Given the description of an element on the screen output the (x, y) to click on. 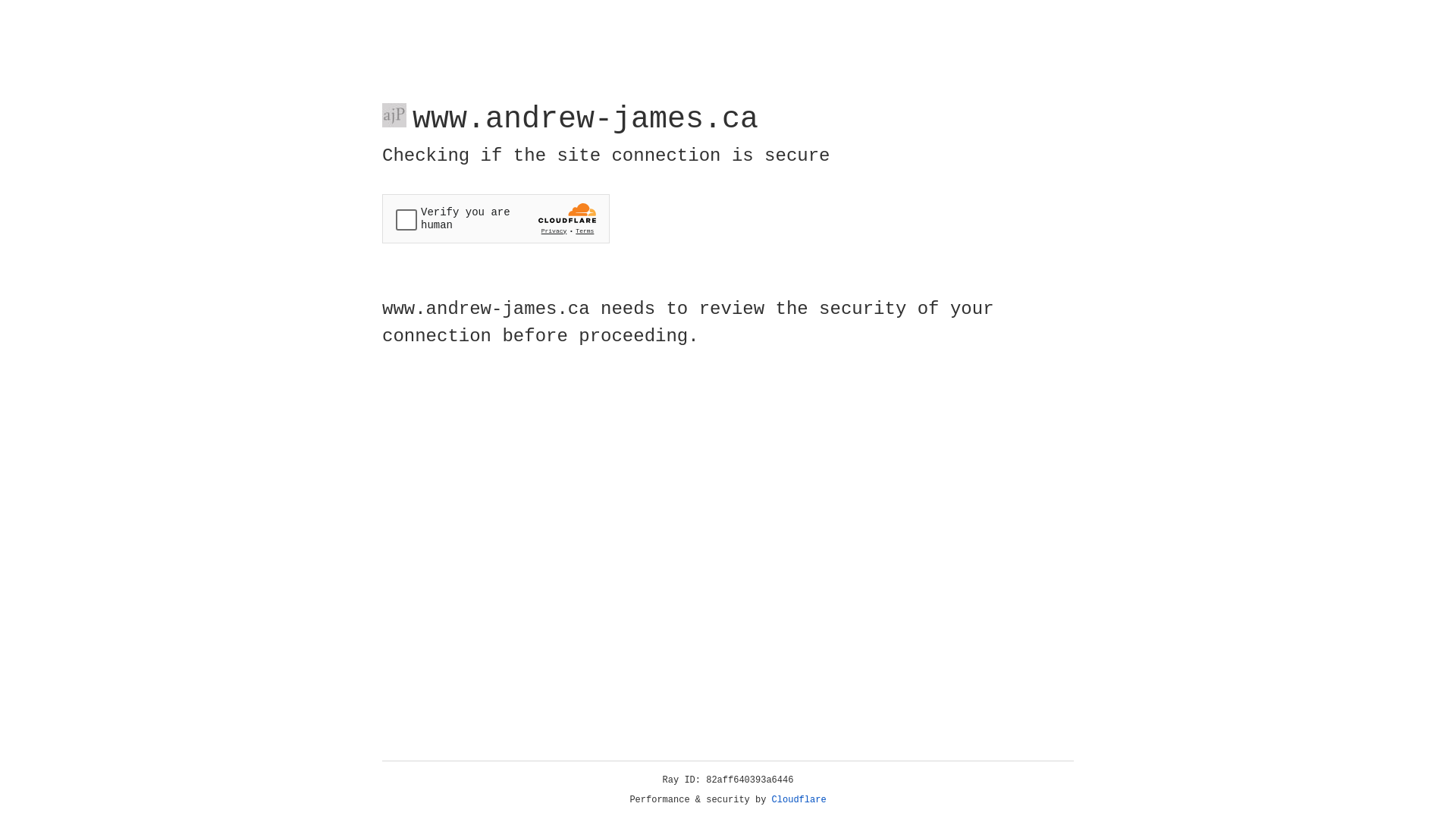
Cloudflare Element type: text (798, 799)
Widget containing a Cloudflare security challenge Element type: hover (495, 218)
